Given the description of an element on the screen output the (x, y) to click on. 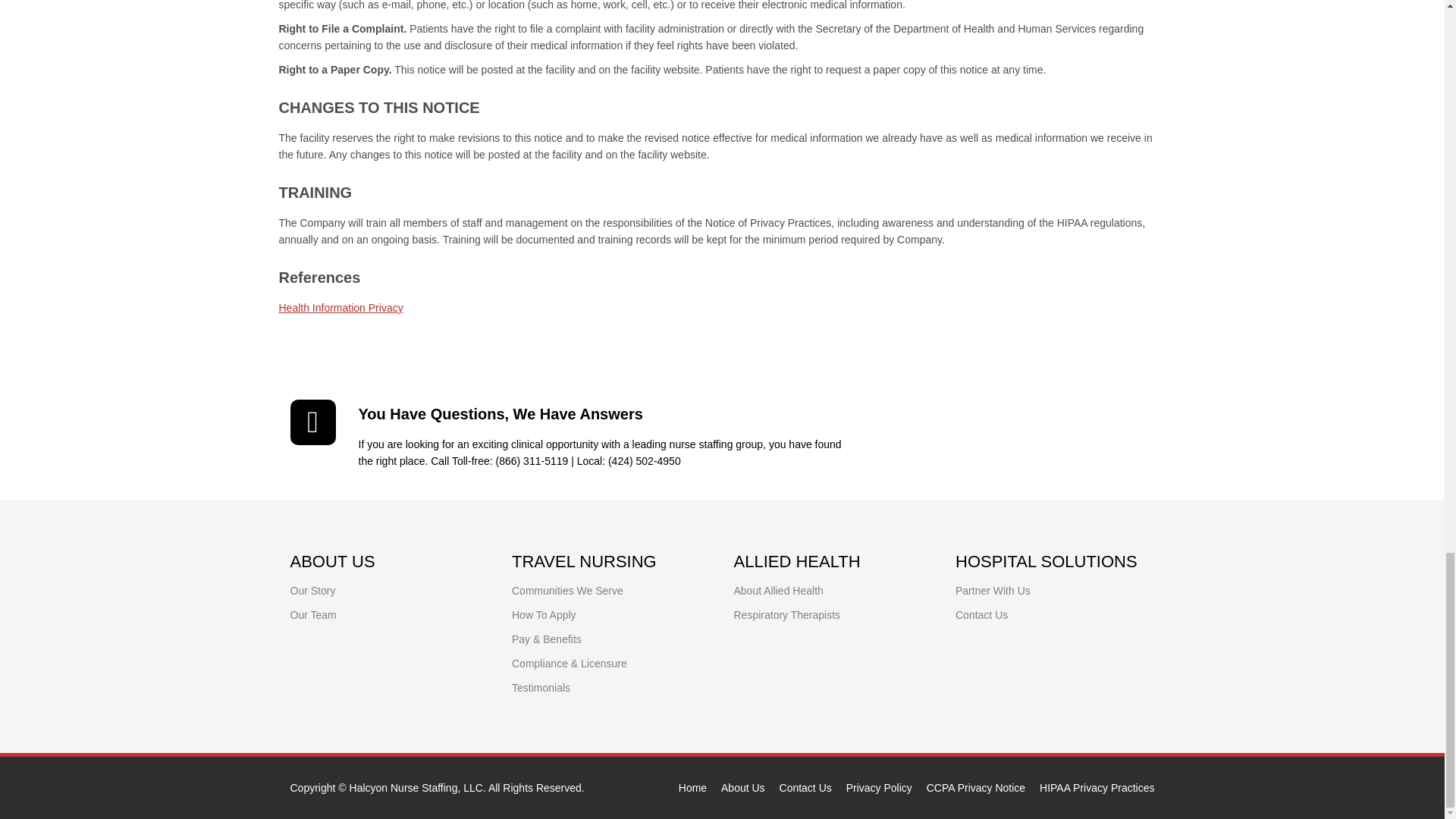
Privacy Policy (878, 787)
HIPAA Privacy Practices (1096, 787)
CCPA Privacy Notice (975, 787)
Contact Us (804, 787)
Halcyon Nurse Staffing, LLC. (417, 787)
Health Information Privacy (341, 307)
Our Story (311, 590)
How To Apply (544, 614)
About Allied Health (778, 590)
Our Team (312, 614)
Communities We Serve (567, 590)
Partner With Us (992, 590)
Respiratory Therapists (787, 614)
Testimonials (541, 687)
Contact Us (981, 614)
